Given the description of an element on the screen output the (x, y) to click on. 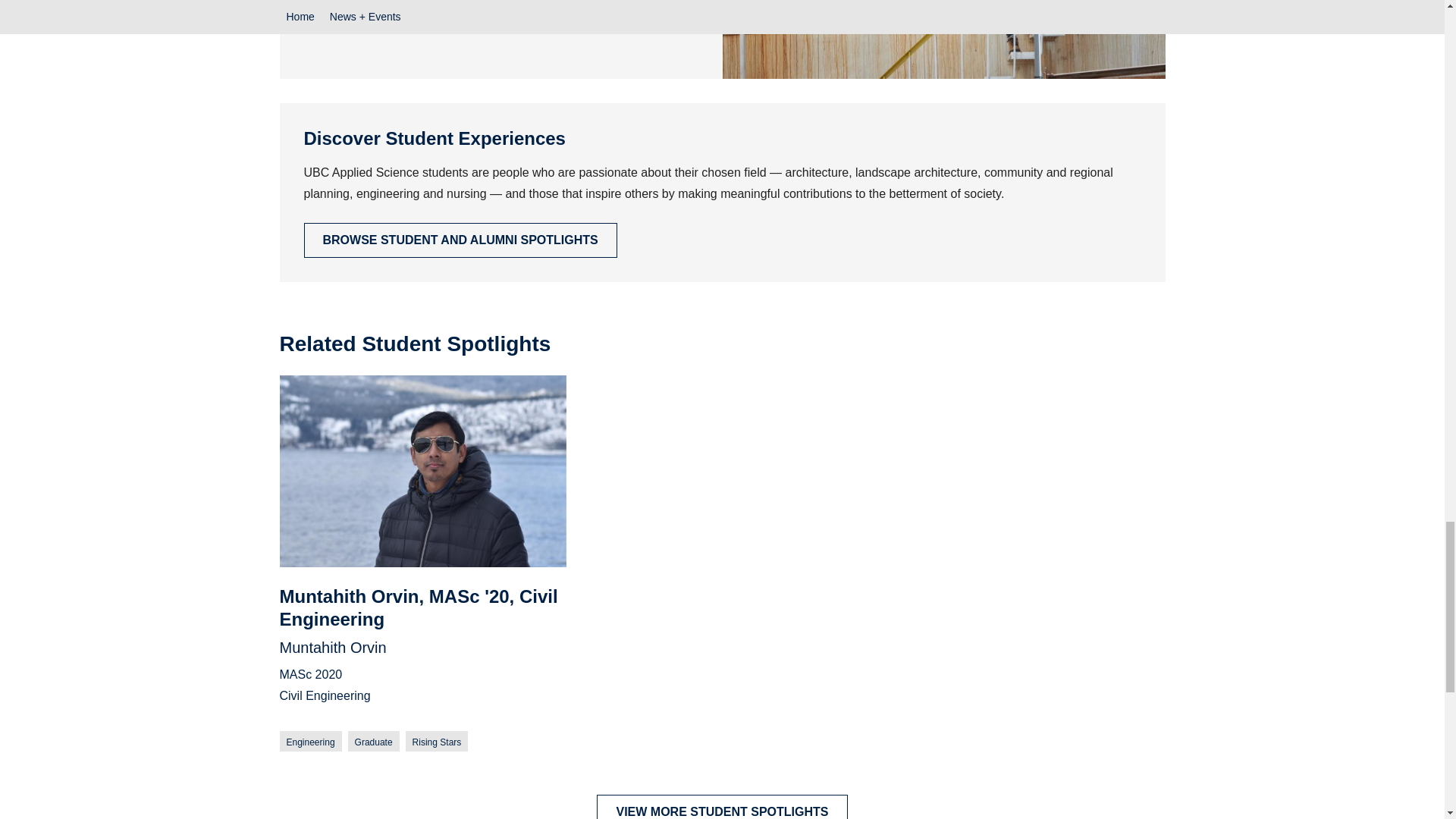
Graduate (372, 741)
Browse Student and Alumni Spotlights (458, 239)
Engineering (309, 741)
